Given the description of an element on the screen output the (x, y) to click on. 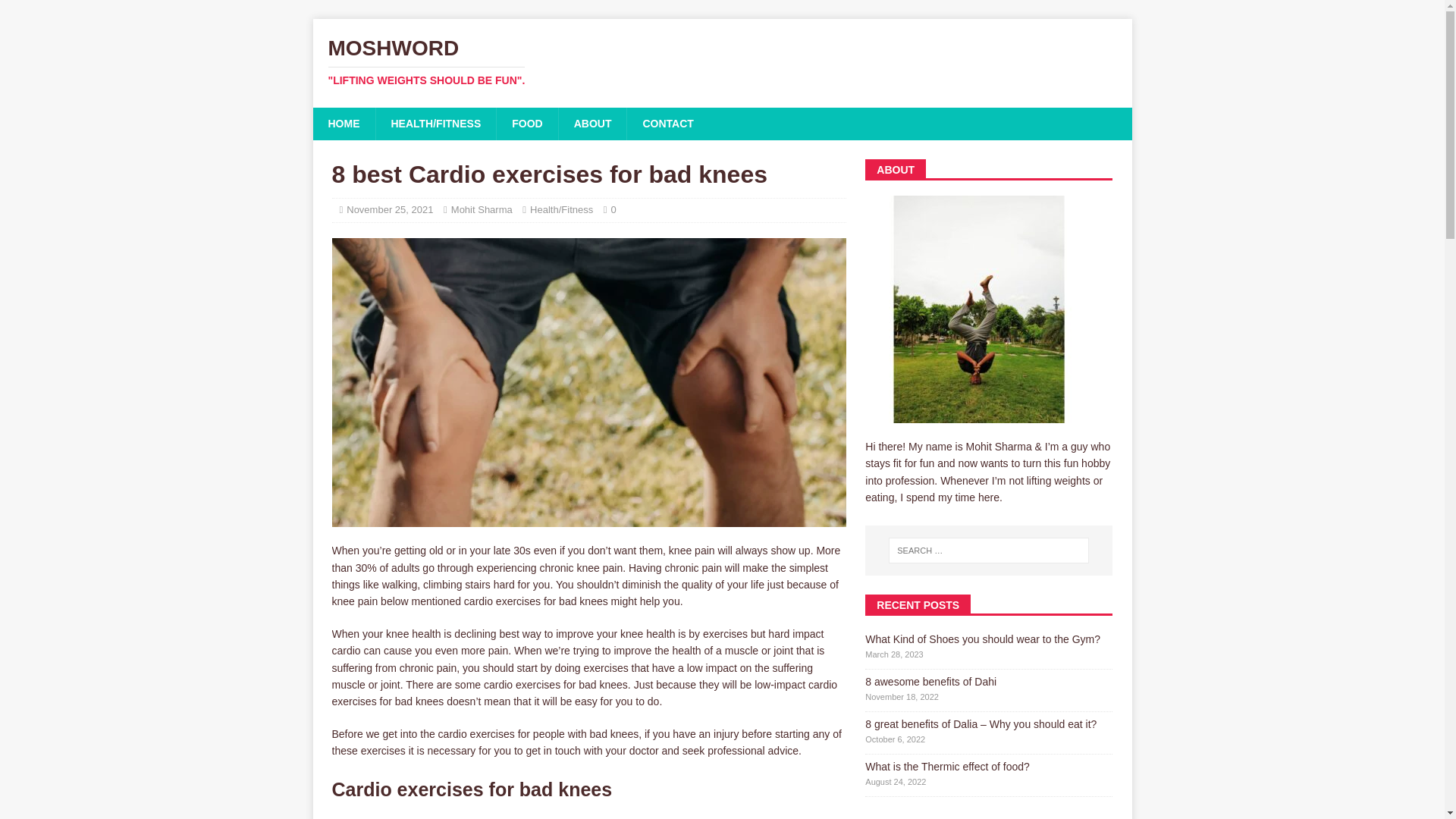
8 awesome benefits of Dahi (929, 681)
Search (56, 11)
HOME (343, 123)
November 25, 2021 (721, 61)
FOOD (389, 209)
Moshword (526, 123)
What is the Thermic effect of food? (721, 61)
knee pain (946, 766)
What Kind of Shoes you should wear to the Gym? (666, 123)
Mohit Sharma (982, 639)
ABOUT (481, 209)
